Given the description of an element on the screen output the (x, y) to click on. 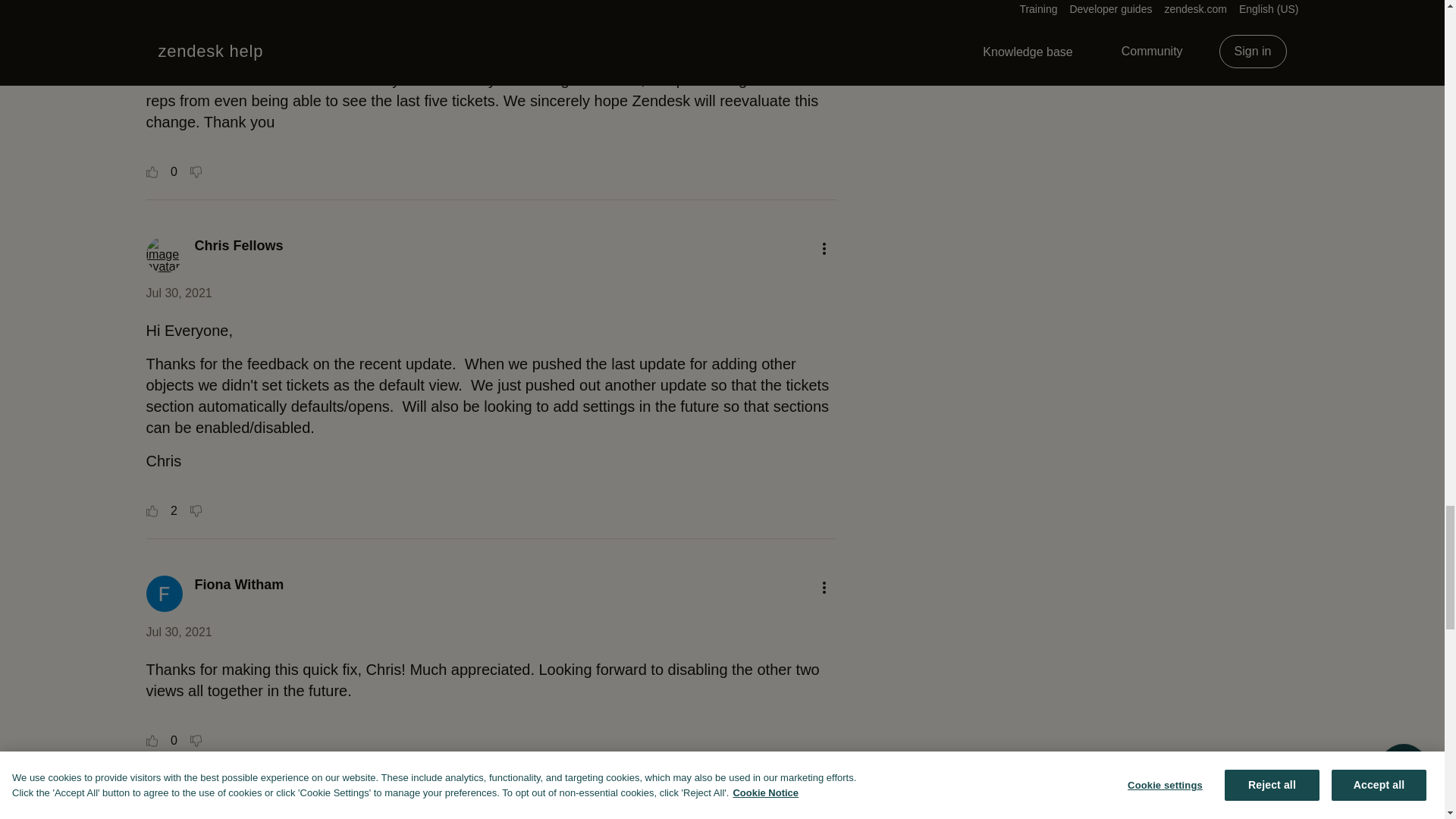
Jul 30, 2021 (178, 2)
Jul 30, 2021 (178, 631)
Jul 30, 2021 (178, 292)
